Given the description of an element on the screen output the (x, y) to click on. 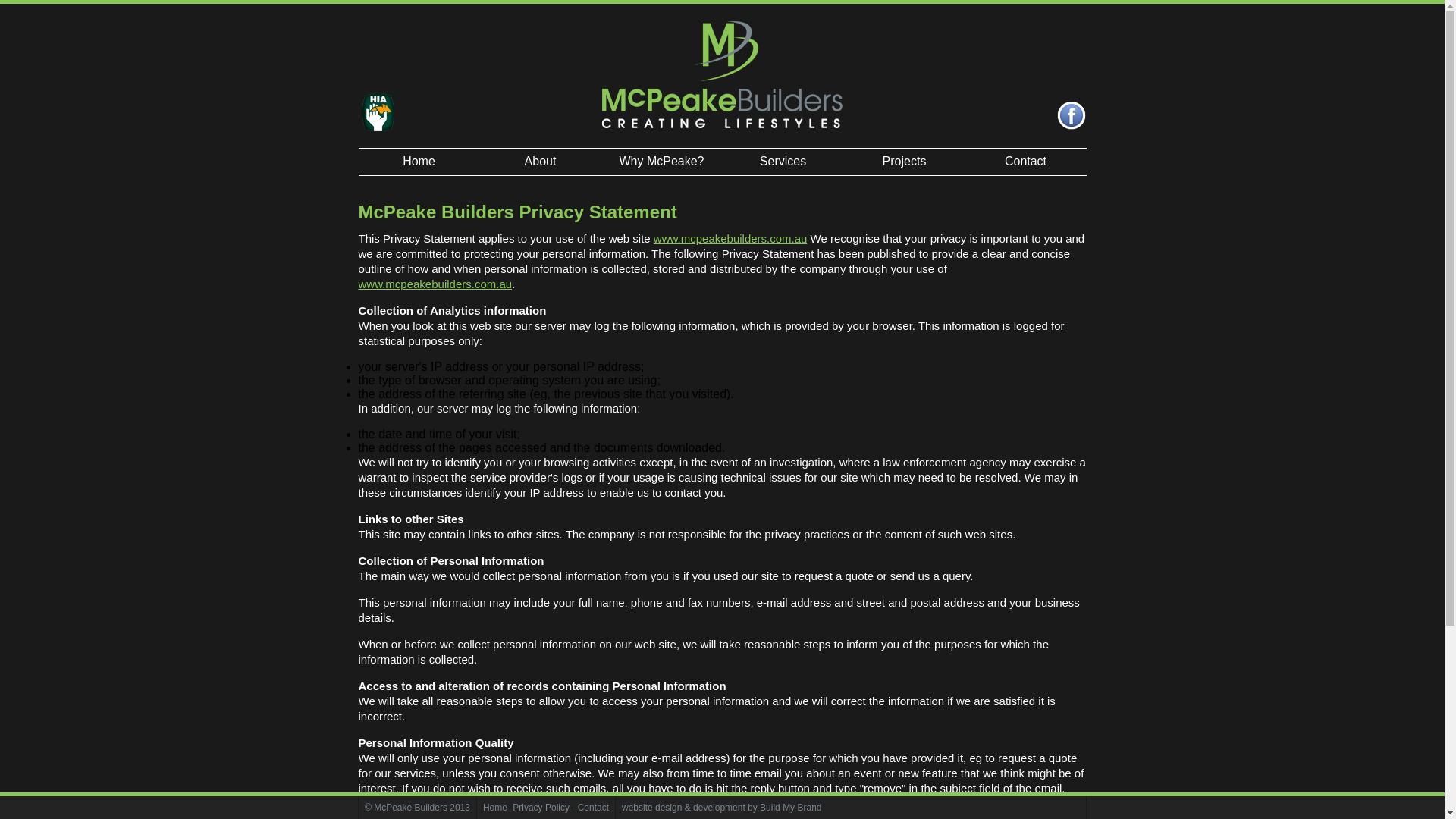
Home Element type: text (495, 807)
www.mcpeakebuilders.com.au Element type: text (730, 238)
Contact Element type: text (1024, 161)
Lifestyle Home Extensions Element type: hover (721, 71)
Services Element type: text (782, 161)
About Element type: text (539, 161)
Contact Element type: text (592, 807)
Privacy Policy Element type: text (540, 807)
Why McPeake? Element type: text (660, 161)
www.mcpeakebuilders.com.au Element type: text (434, 283)
Build My Brand Element type: text (790, 807)
Home Element type: text (418, 161)
Projects Element type: text (903, 161)
